Given the description of an element on the screen output the (x, y) to click on. 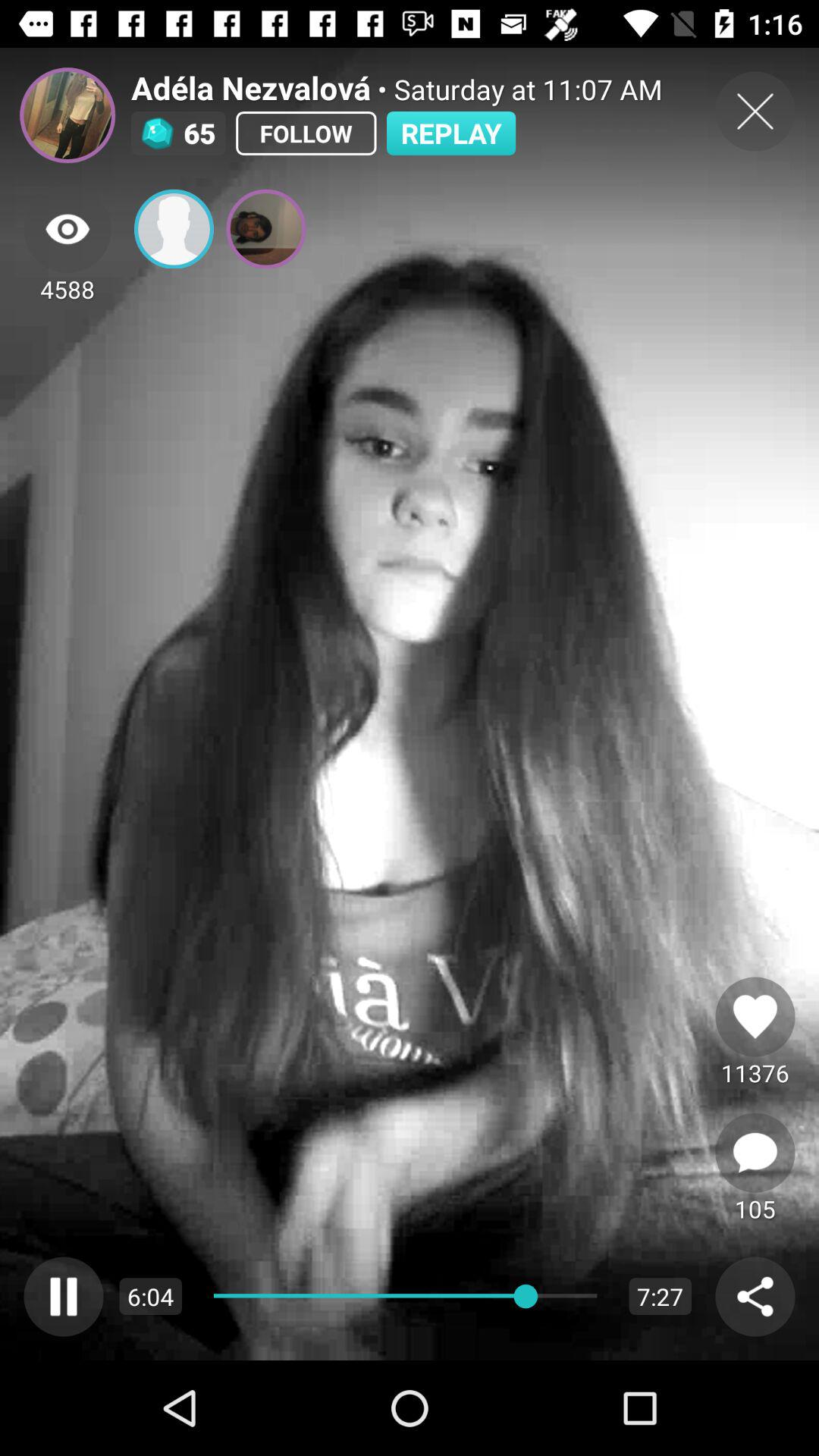
close (755, 111)
